Given the description of an element on the screen output the (x, y) to click on. 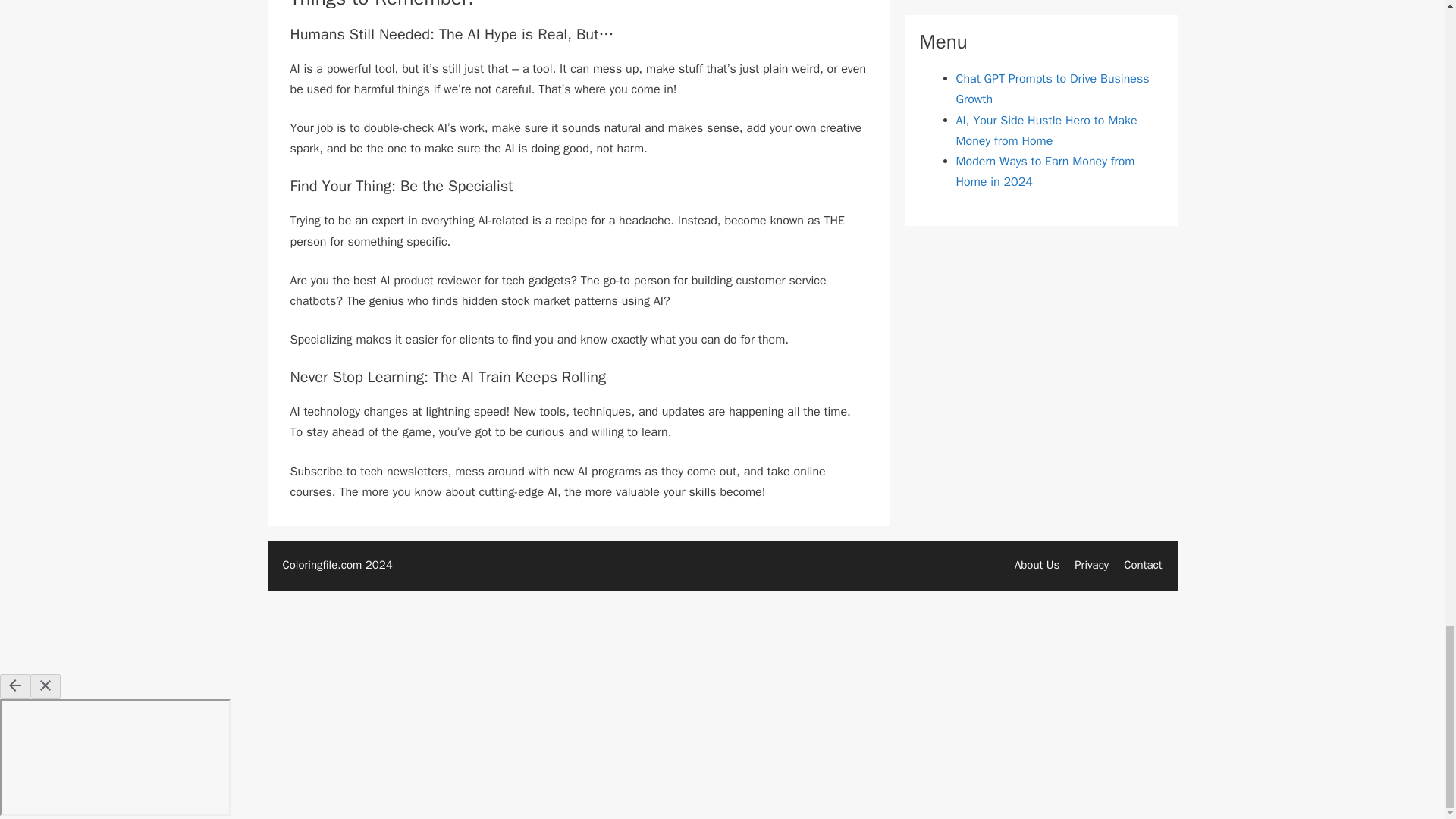
Contact (1142, 564)
About Us (1036, 564)
Privacy (1091, 564)
